Given the description of an element on the screen output the (x, y) to click on. 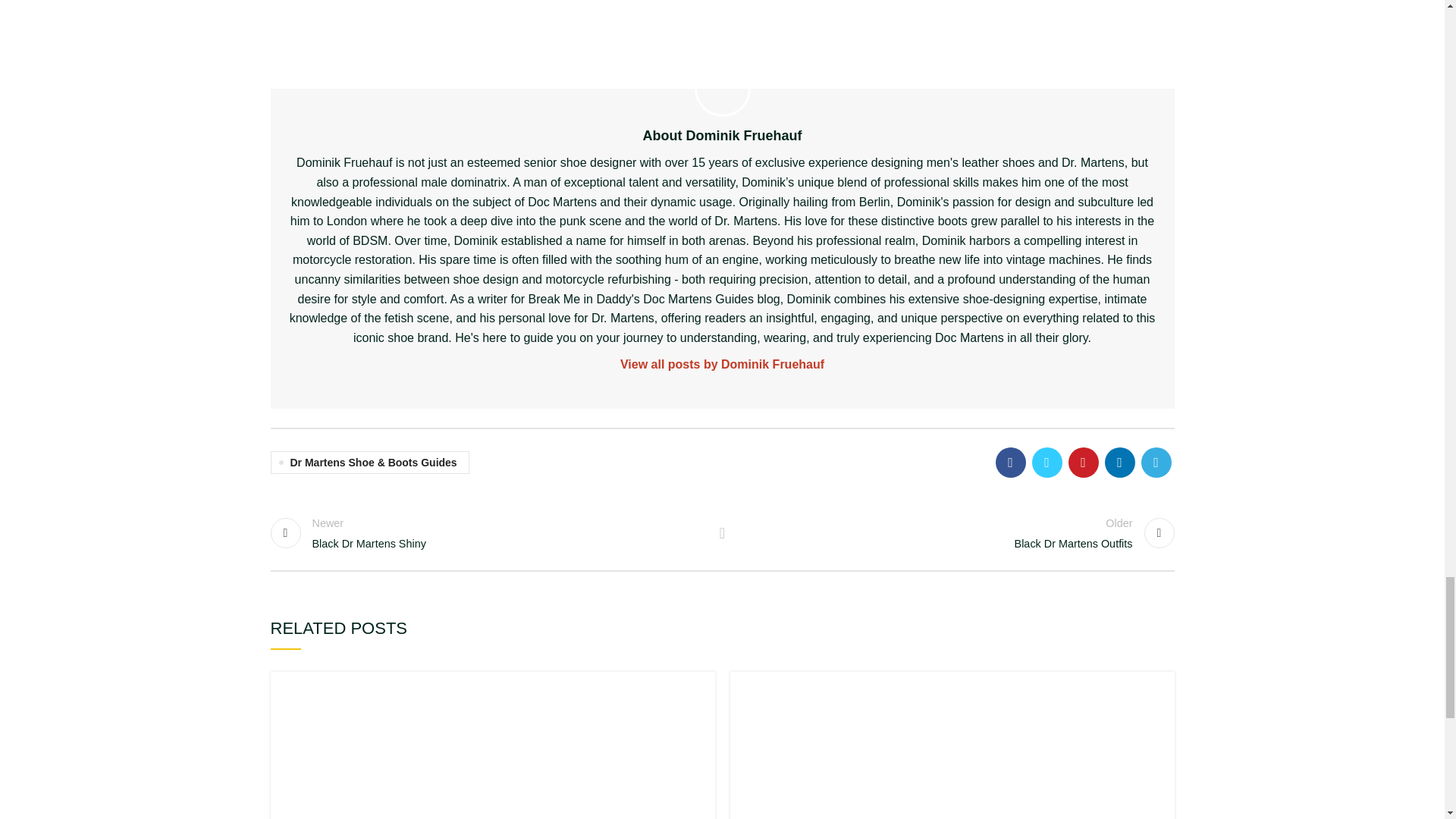
Back to list (721, 532)
Dr. Martens 1B99 (955, 533)
View all posts by Dominik Fruehauf (951, 744)
Dr. Martens 1B60 Bex (488, 533)
